Given the description of an element on the screen output the (x, y) to click on. 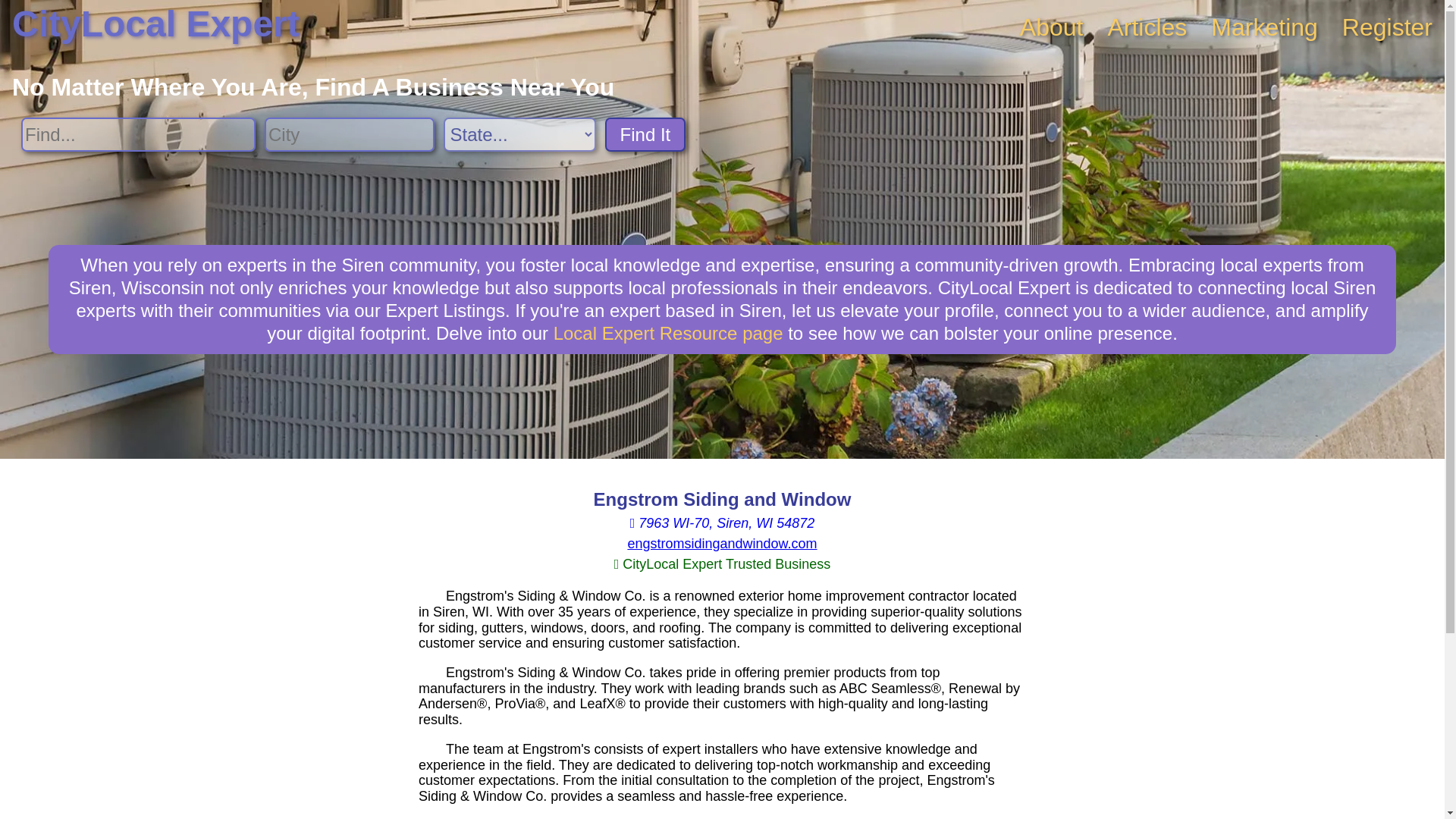
About CityLocal Expert (1051, 27)
Register (1387, 27)
Marketing (1264, 27)
Business Marketing Opportunites (1264, 27)
Local Expert Resource page (668, 332)
Local Expert Resources (668, 332)
Find It (645, 134)
CityLocal Expert (155, 24)
